Given the description of an element on the screen output the (x, y) to click on. 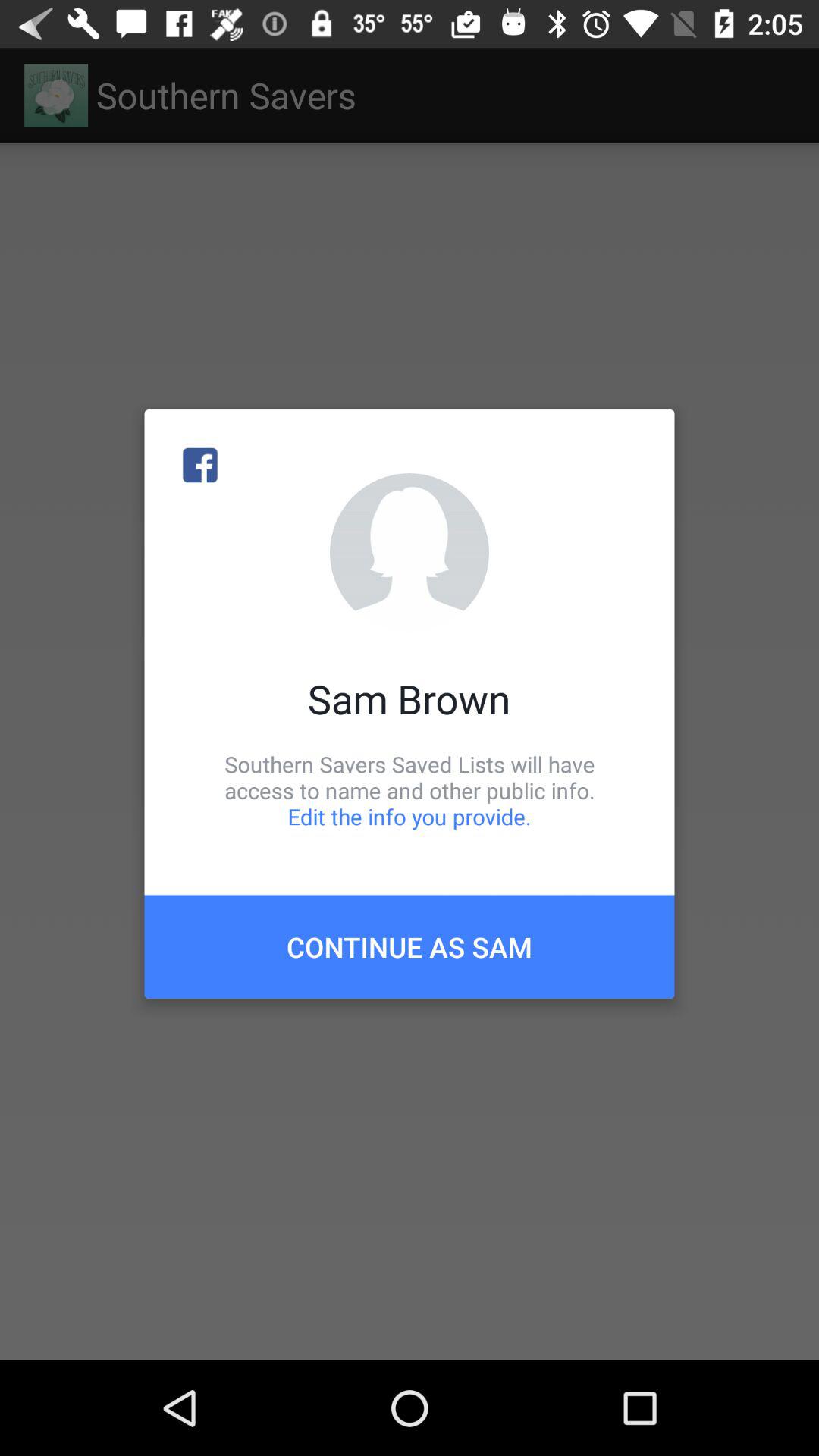
scroll to continue as sam (409, 946)
